Given the description of an element on the screen output the (x, y) to click on. 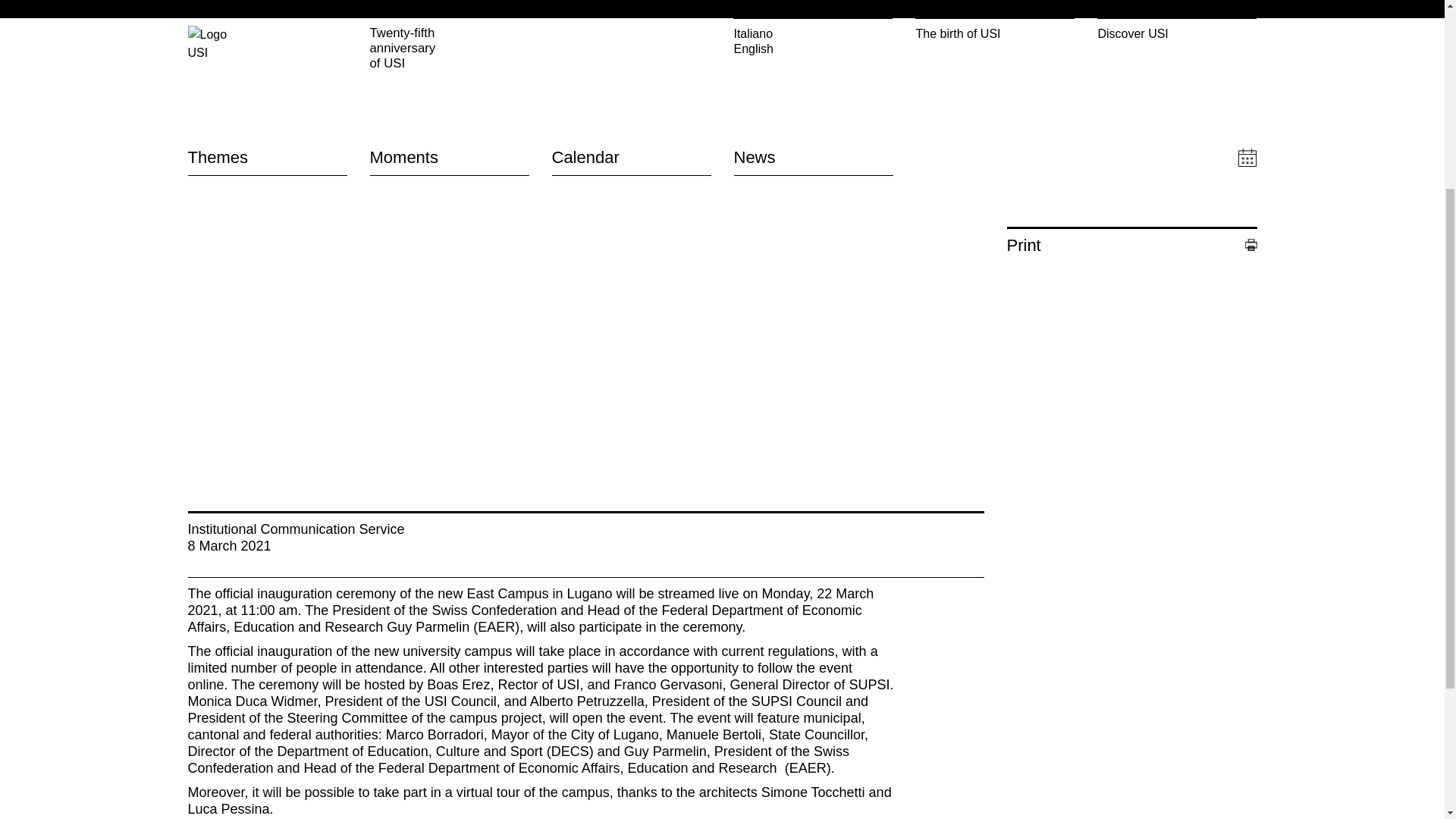
Join the events (592, 360)
Print (1132, 245)
News and events (1052, 415)
Share (1132, 186)
Research (1032, 397)
At a glance (1036, 360)
Study programmes (1057, 379)
